Given the description of an element on the screen output the (x, y) to click on. 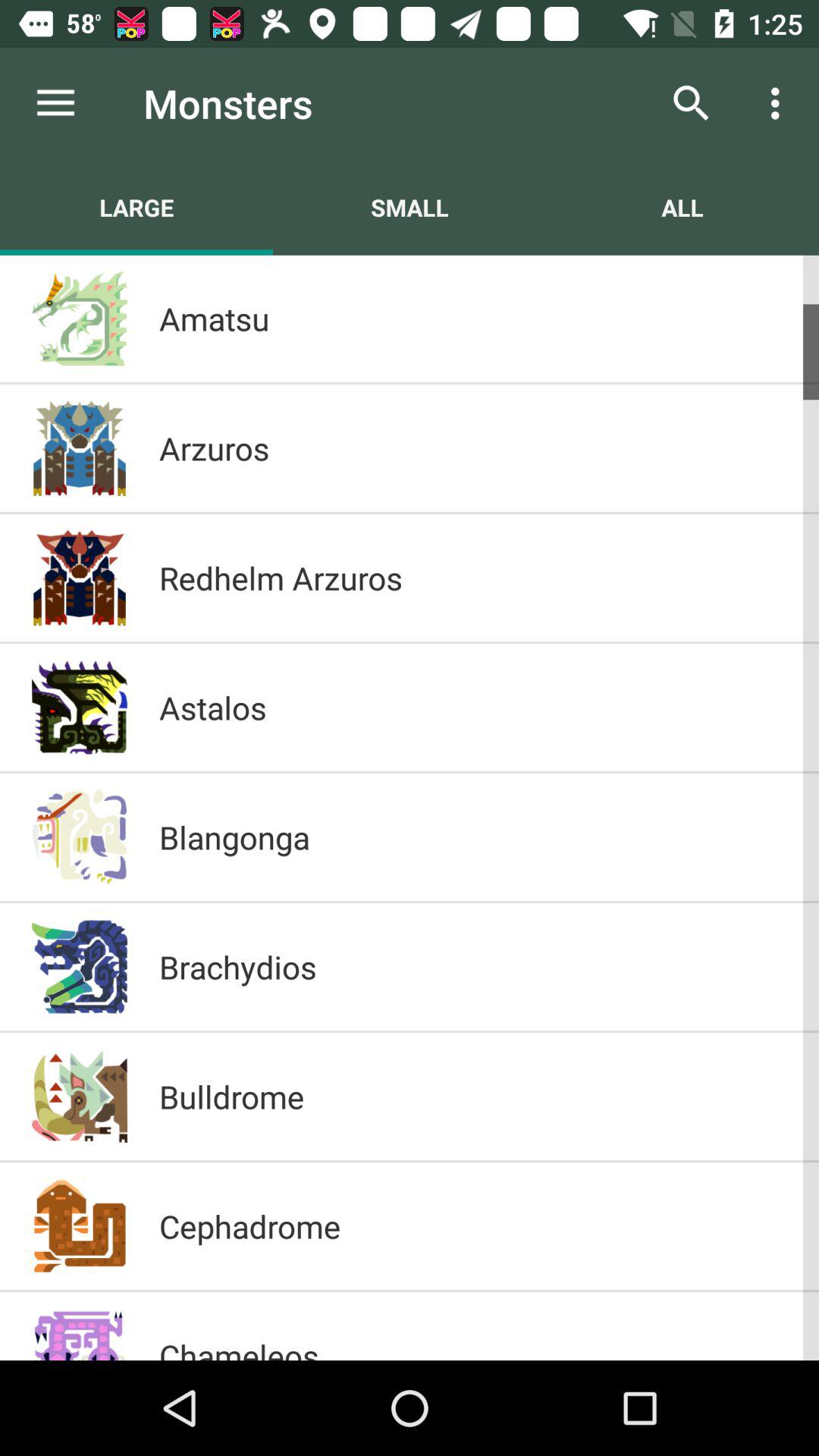
select icon below the blangonga icon (473, 966)
